Given the description of an element on the screen output the (x, y) to click on. 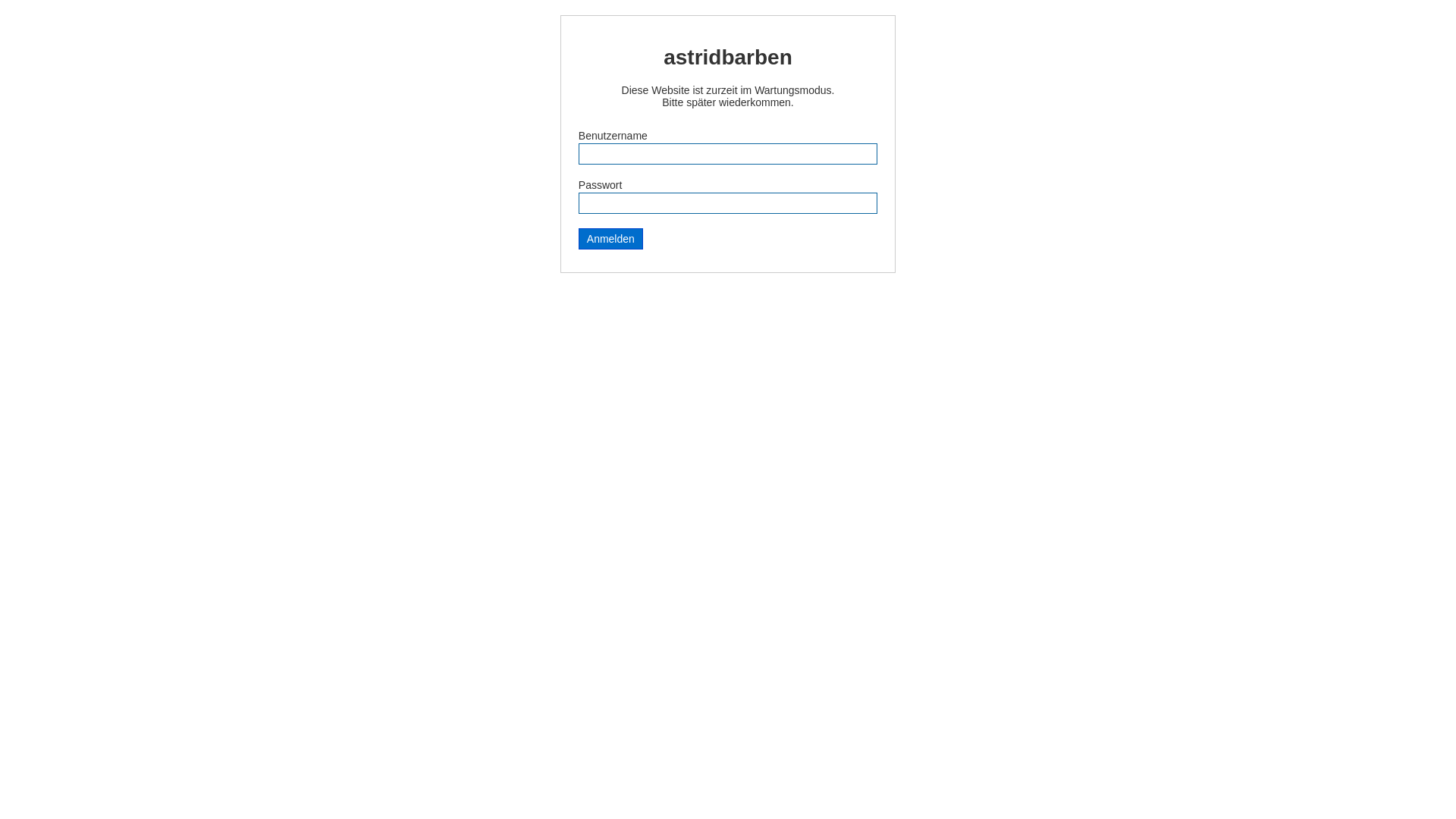
Anmelden Element type: text (610, 238)
